Given the description of an element on the screen output the (x, y) to click on. 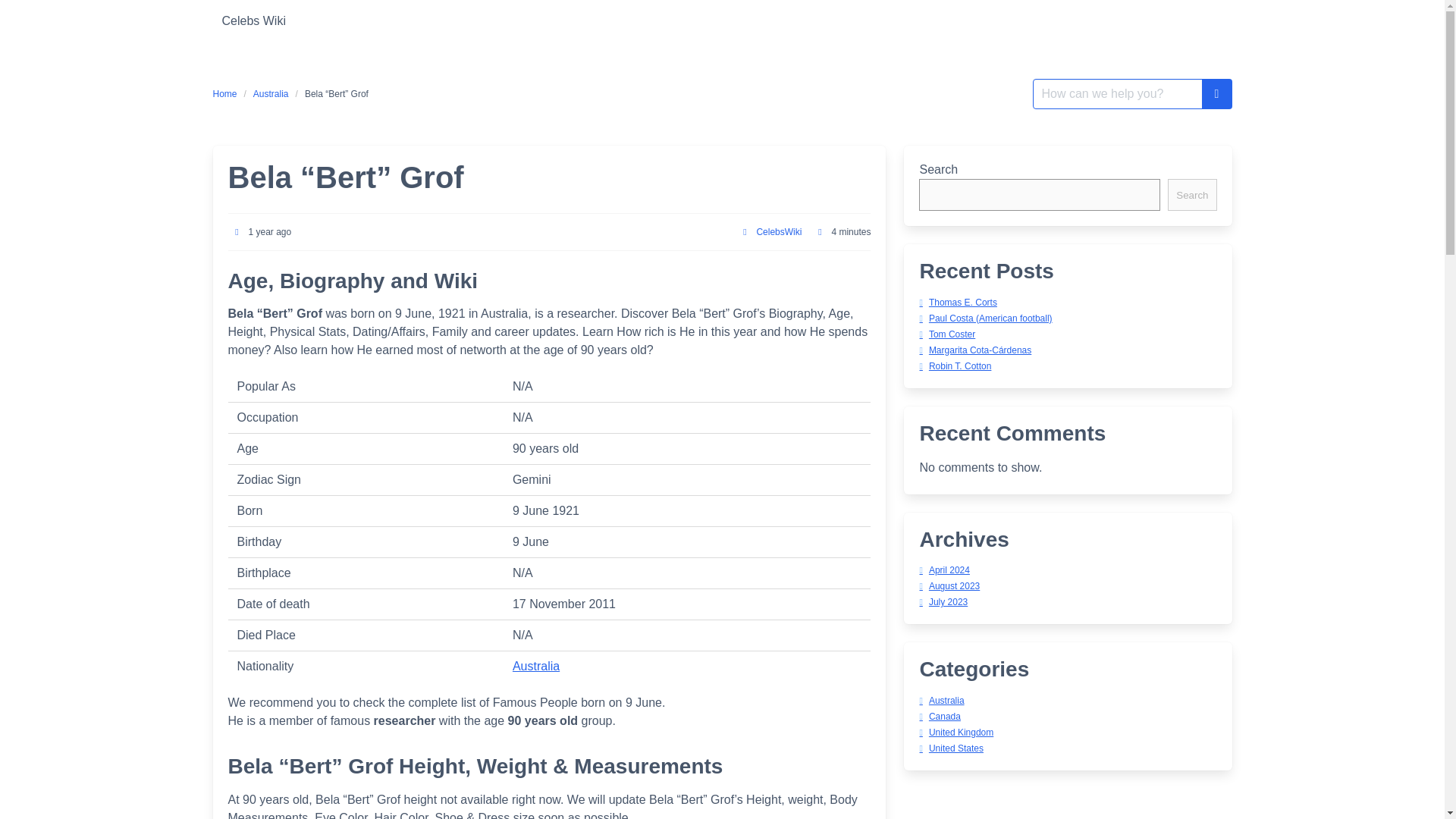
CelebsWiki (778, 231)
Tom Coster (946, 334)
Canada (938, 716)
United Kingdom (955, 732)
July 2023 (943, 602)
Robin T. Cotton (954, 366)
August 2023 (948, 585)
Thomas E. Corts (956, 302)
April 2024 (943, 570)
Search (1191, 194)
